Given the description of an element on the screen output the (x, y) to click on. 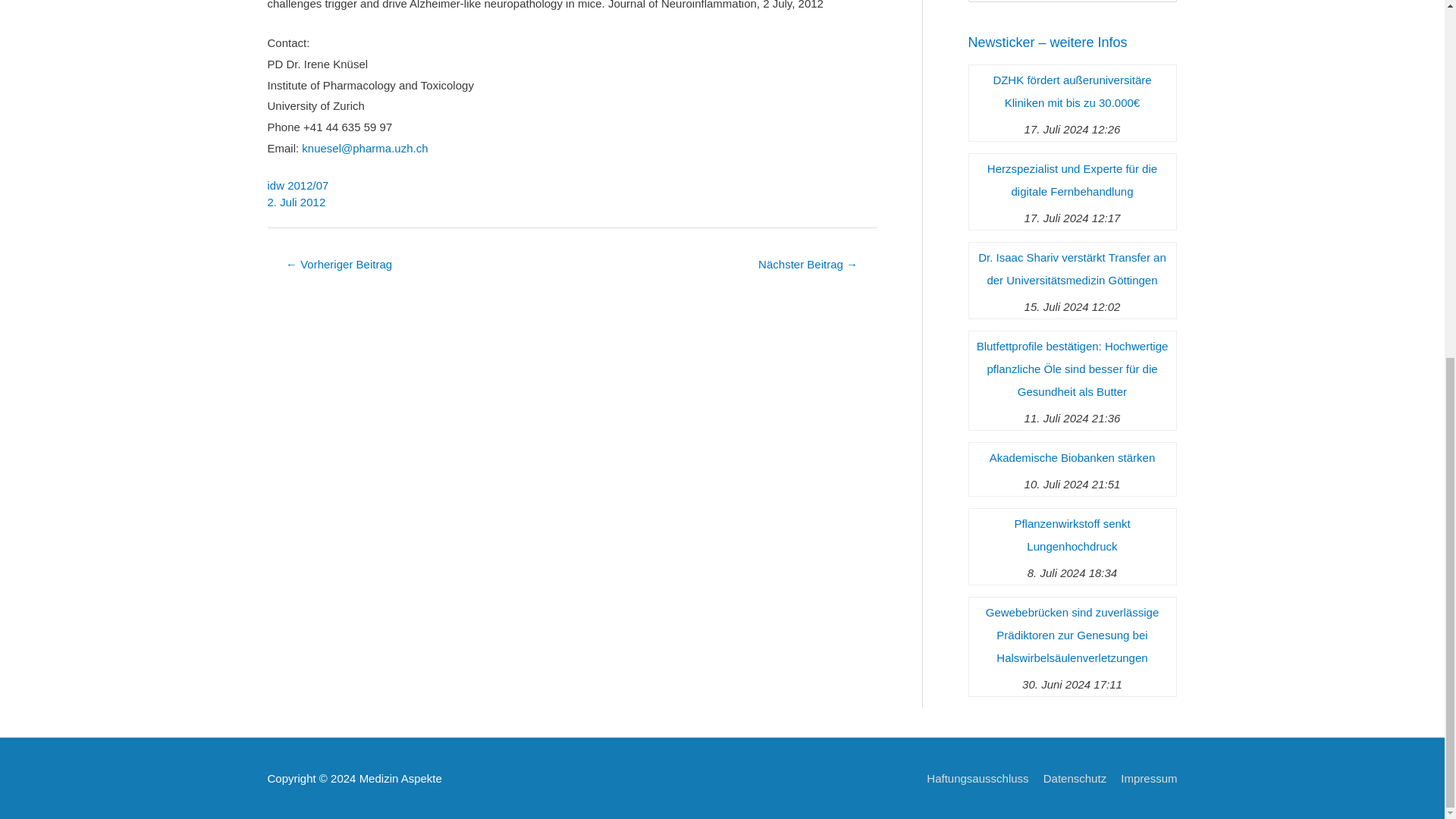
Pflanzenwirkstoff senkt Lungenhochdruck (1072, 534)
Suche (1158, 5)
Haftungsausschluss (971, 778)
Suche (1158, 5)
Impressum (1142, 778)
Datenschutz (1069, 778)
Suche (1158, 5)
